Given the description of an element on the screen output the (x, y) to click on. 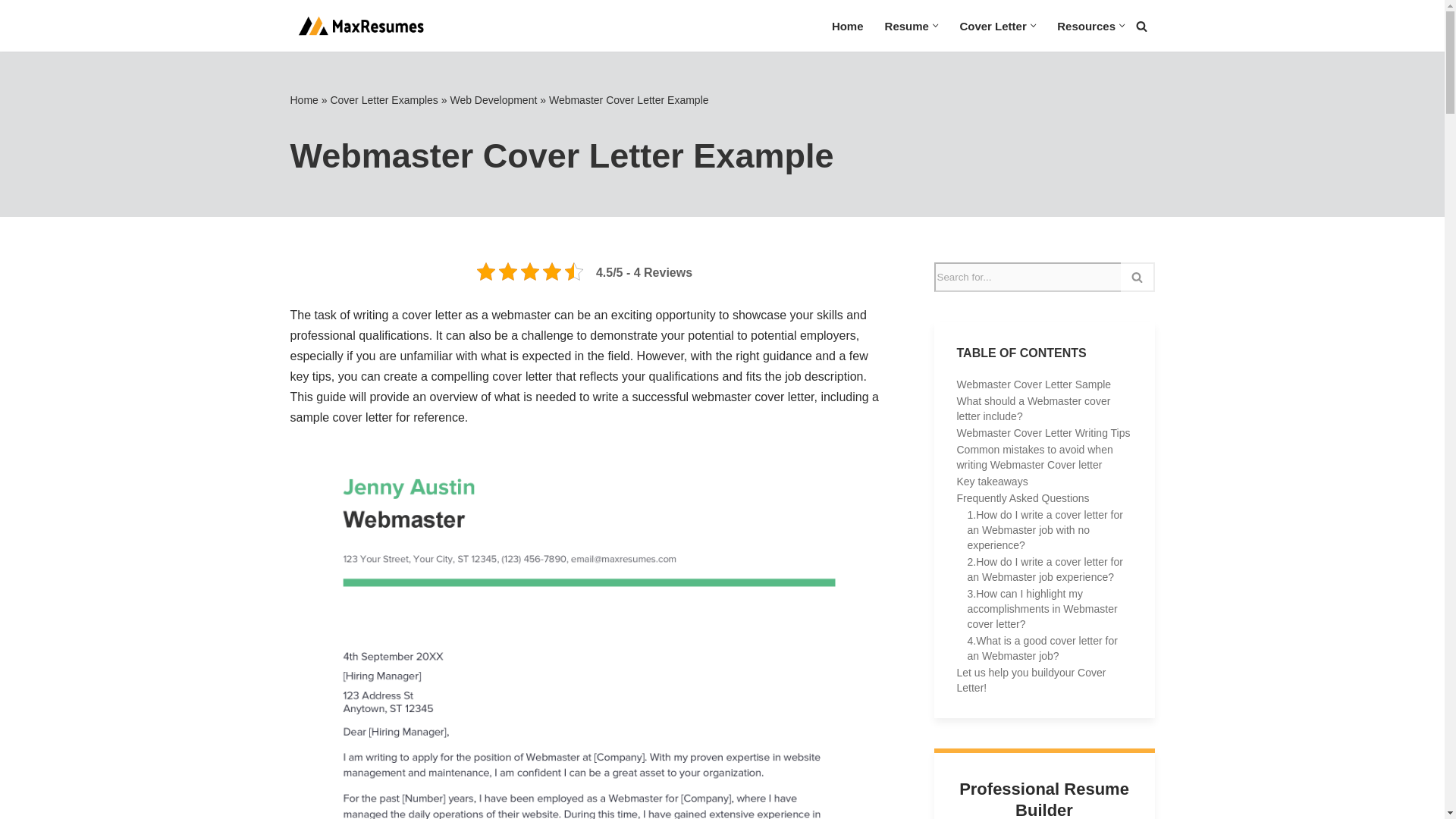
Home (847, 26)
MaxResumes (357, 25)
Resume (906, 26)
Cover Letter (992, 26)
Skip to content (11, 31)
Resources (1086, 26)
